Given the description of an element on the screen output the (x, y) to click on. 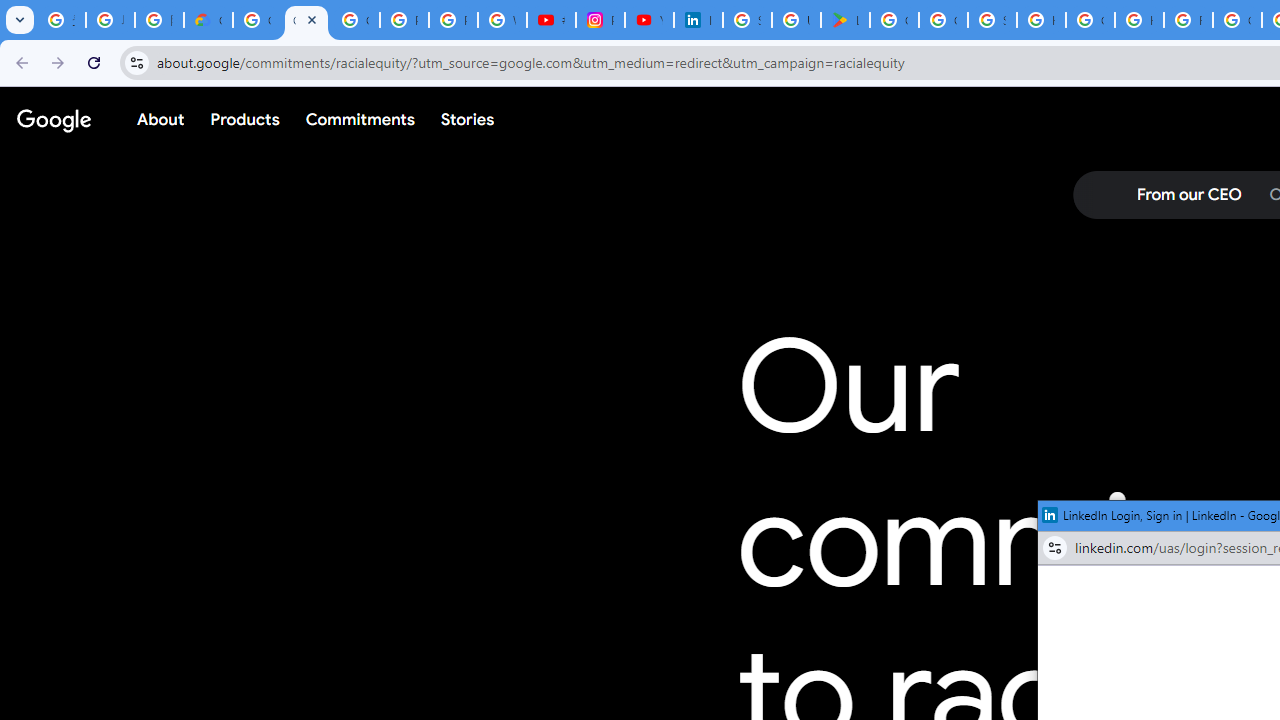
View site information (1055, 547)
Products (245, 119)
Commitments (359, 119)
Privacy Help Center - Policies Help (452, 20)
Last Shelter: Survival - Apps on Google Play (845, 20)
Identity verification via Persona | LinkedIn Help (698, 20)
YouTube Culture & Trends - On The Rise: Handcam Videos (649, 20)
Google (54, 119)
How do I create a new Google Account? - Google Account Help (1138, 20)
Stories (467, 119)
About (161, 119)
